Given the description of an element on the screen output the (x, y) to click on. 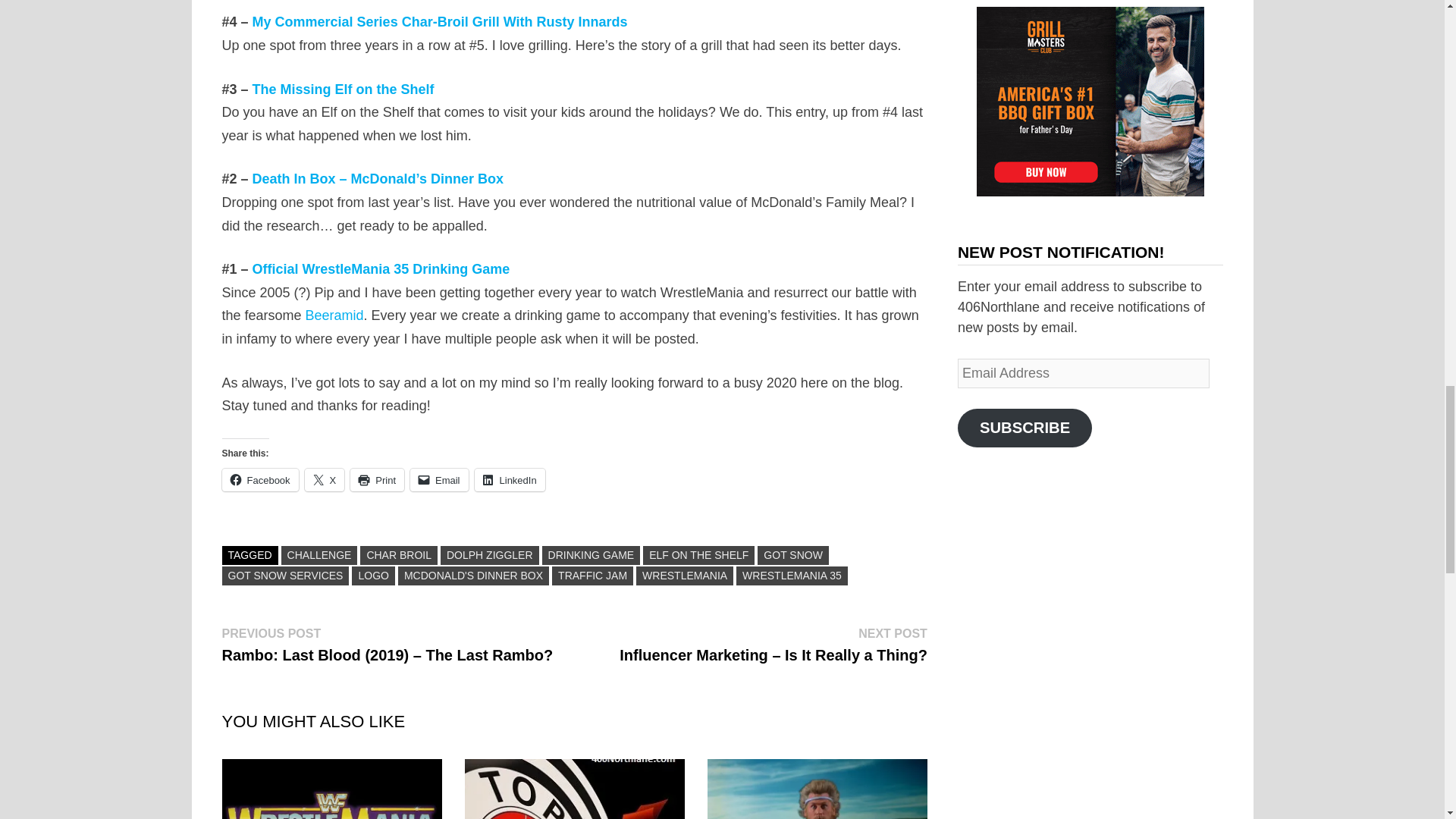
Click to share on X (324, 479)
Click to share on Facebook (259, 479)
Click to share on LinkedIn (509, 479)
Click to print (377, 479)
Click to email a link to a friend (439, 479)
